Given the description of an element on the screen output the (x, y) to click on. 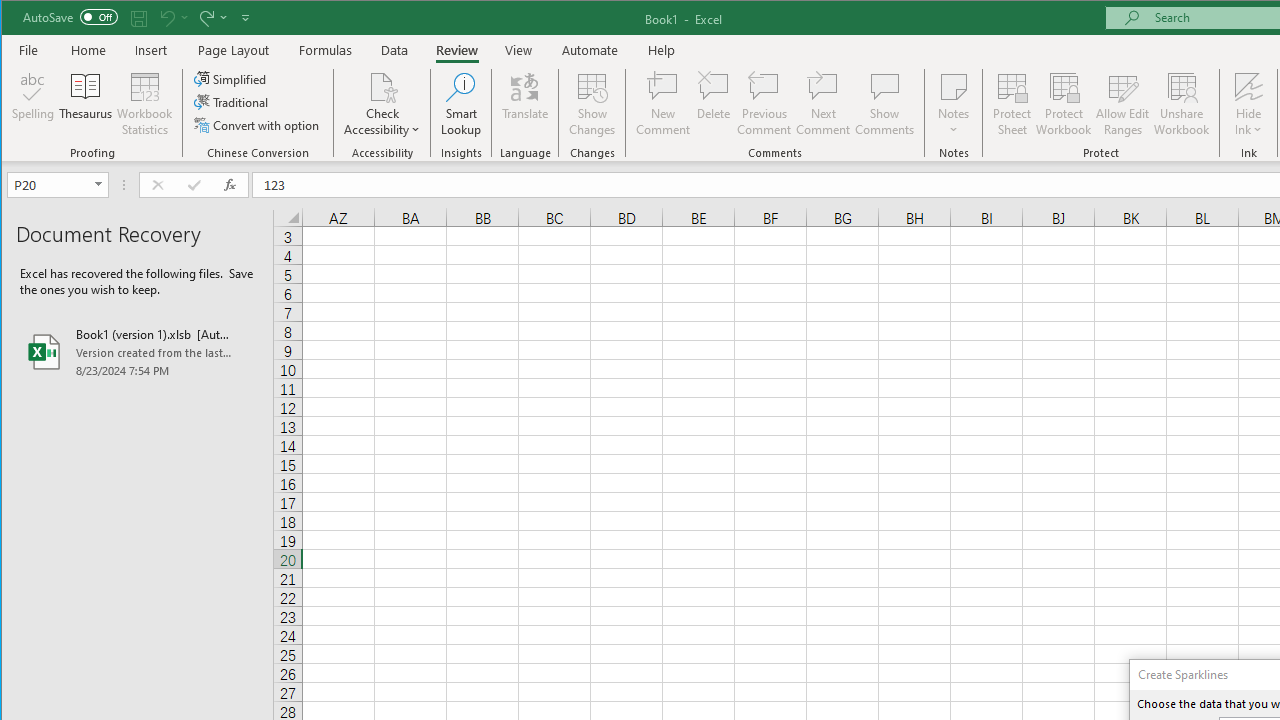
Hide Ink (1248, 86)
Simplified (231, 78)
